Given the description of an element on the screen output the (x, y) to click on. 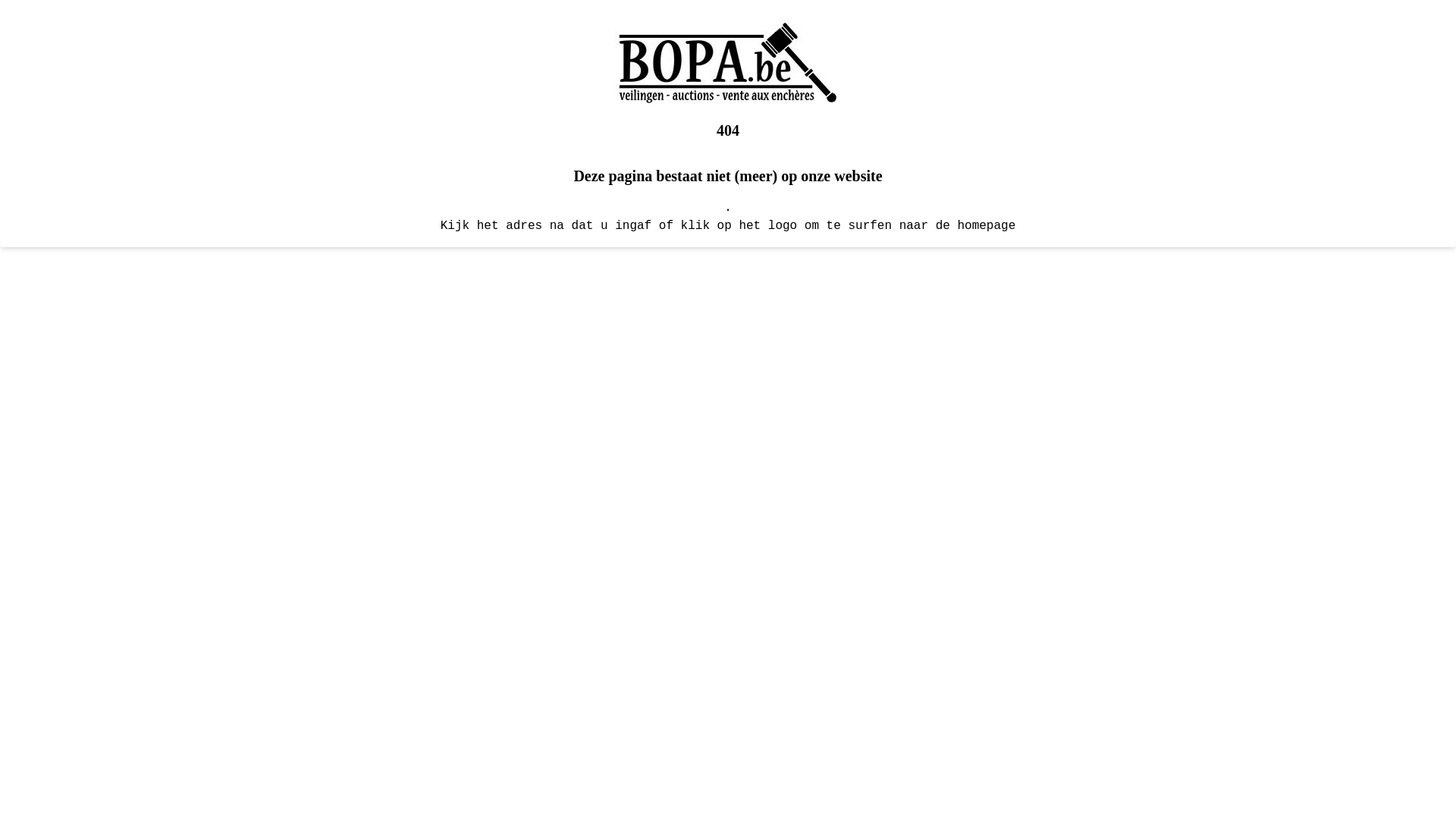
homepage Element type: text (986, 225)
